Given the description of an element on the screen output the (x, y) to click on. 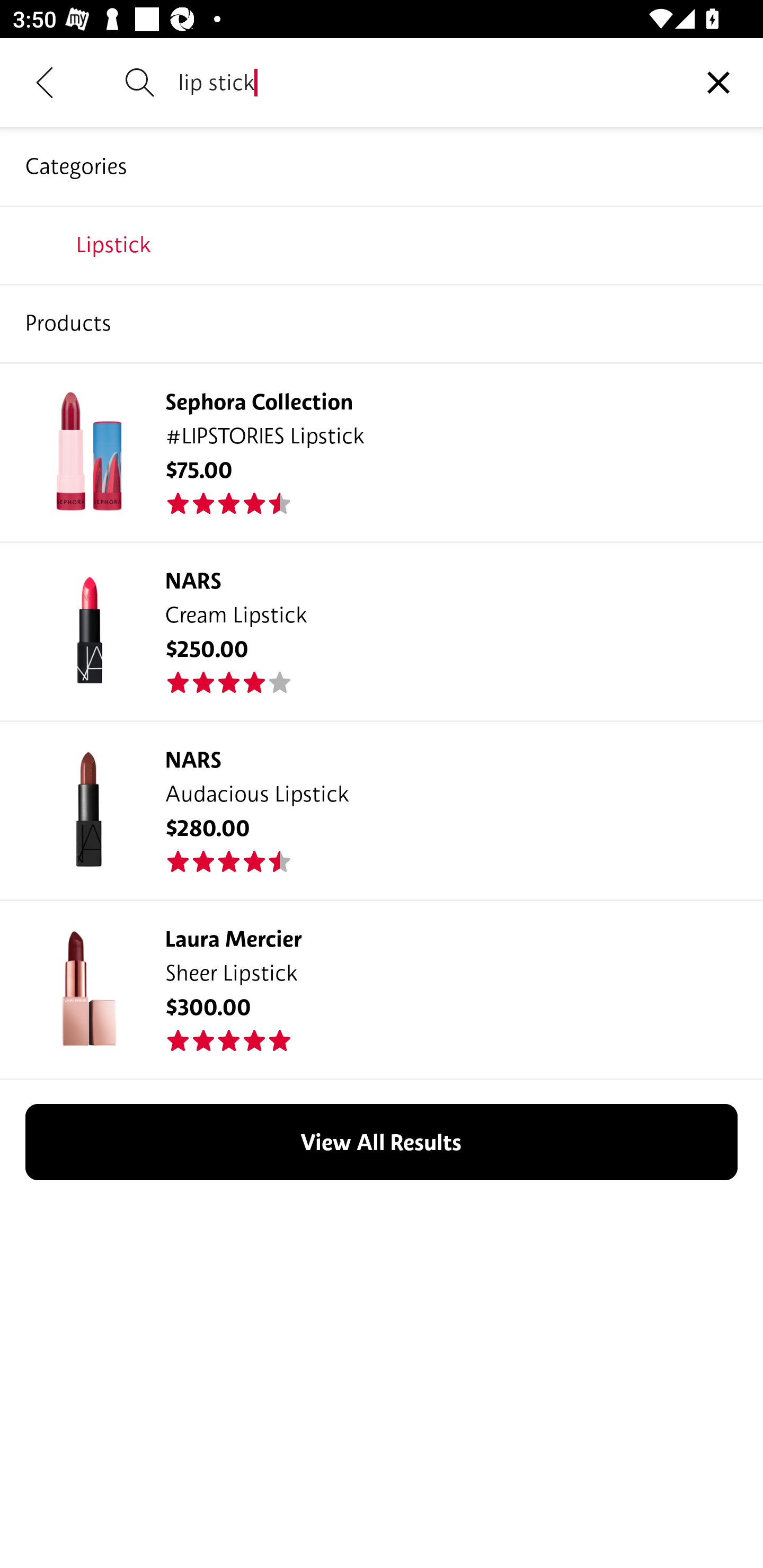
Navigate up (44, 82)
Clear query (718, 81)
lip stick (425, 82)
rare beauty (381, 244)
sephora collection (381, 322)
Product Image NARS Cream Lipstick $250.00 (381, 629)
Product Image NARS Audacious Lipstick $280.00 (381, 809)
Product Image Laura Mercier Sheer Lipstick $300.00 (381, 989)
View All Results (381, 1141)
